Given the description of an element on the screen output the (x, y) to click on. 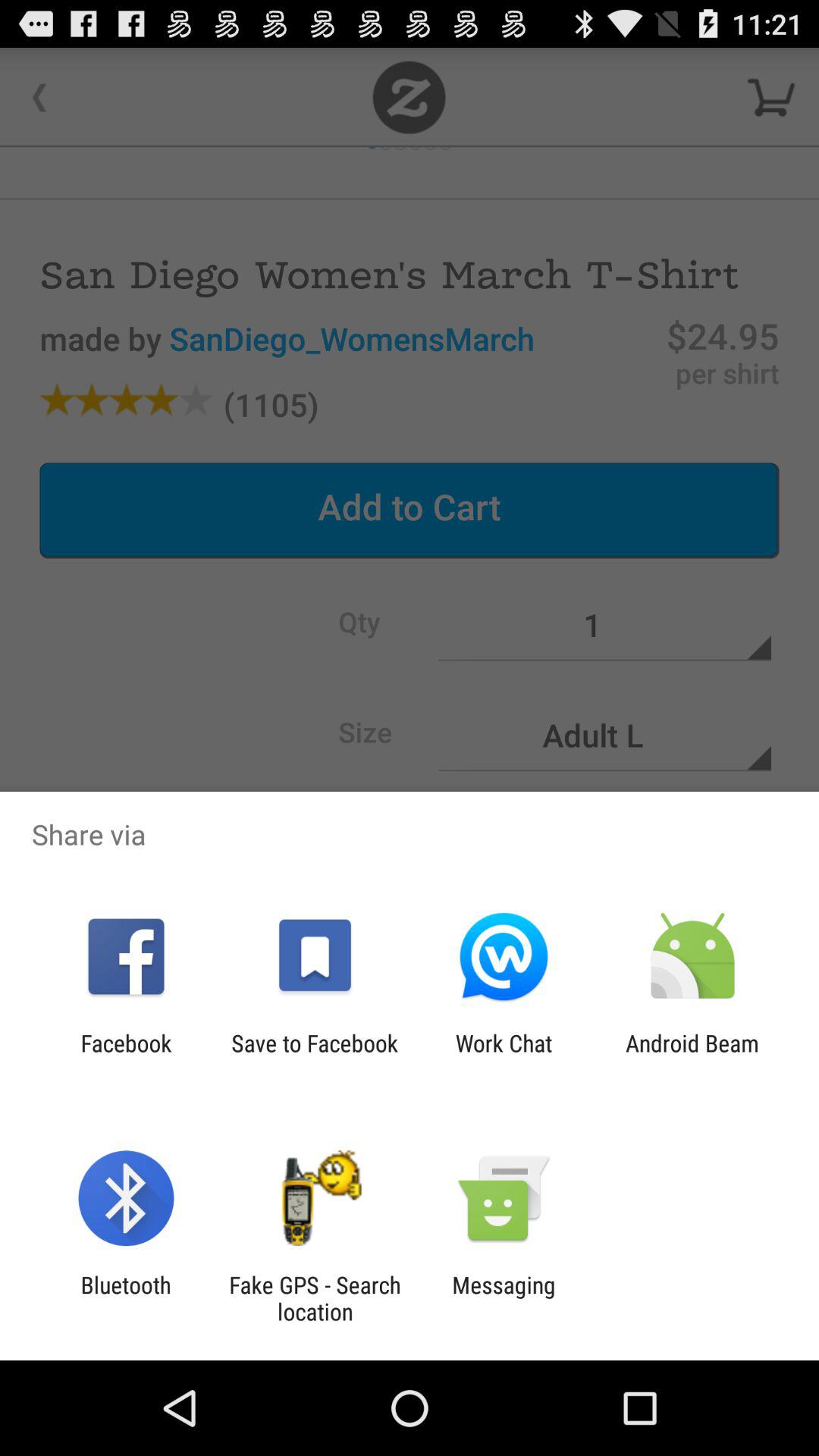
click item next to the fake gps search icon (503, 1298)
